Given the description of an element on the screen output the (x, y) to click on. 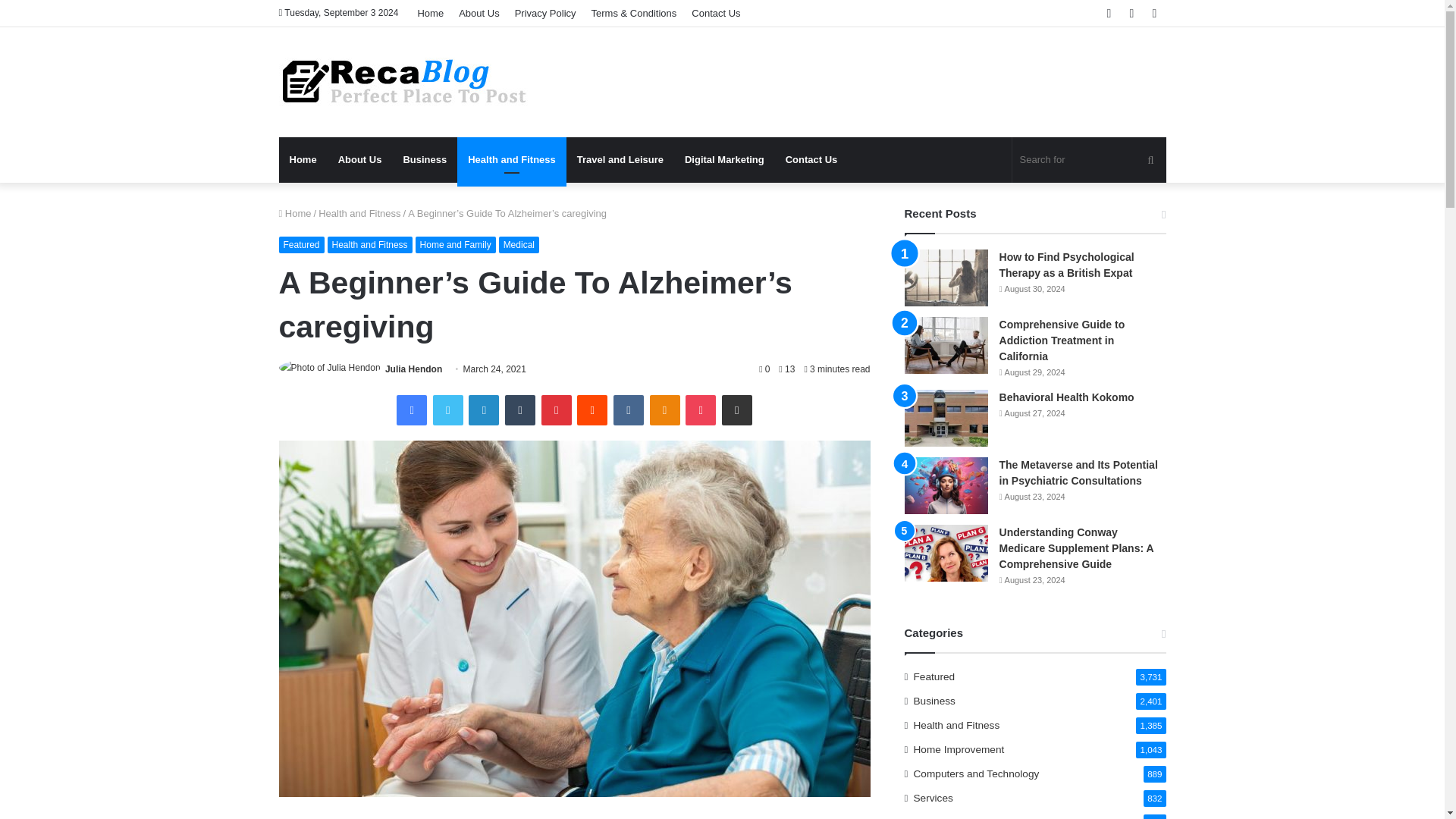
Privacy Policy (544, 13)
Julia Hendon (413, 368)
LinkedIn (483, 409)
Facebook (411, 409)
Pinterest (556, 409)
Reca Blog (404, 82)
Health and Fitness (511, 159)
Odnoklassniki (664, 409)
Business (424, 159)
Health and Fitness (369, 244)
